Given the description of an element on the screen output the (x, y) to click on. 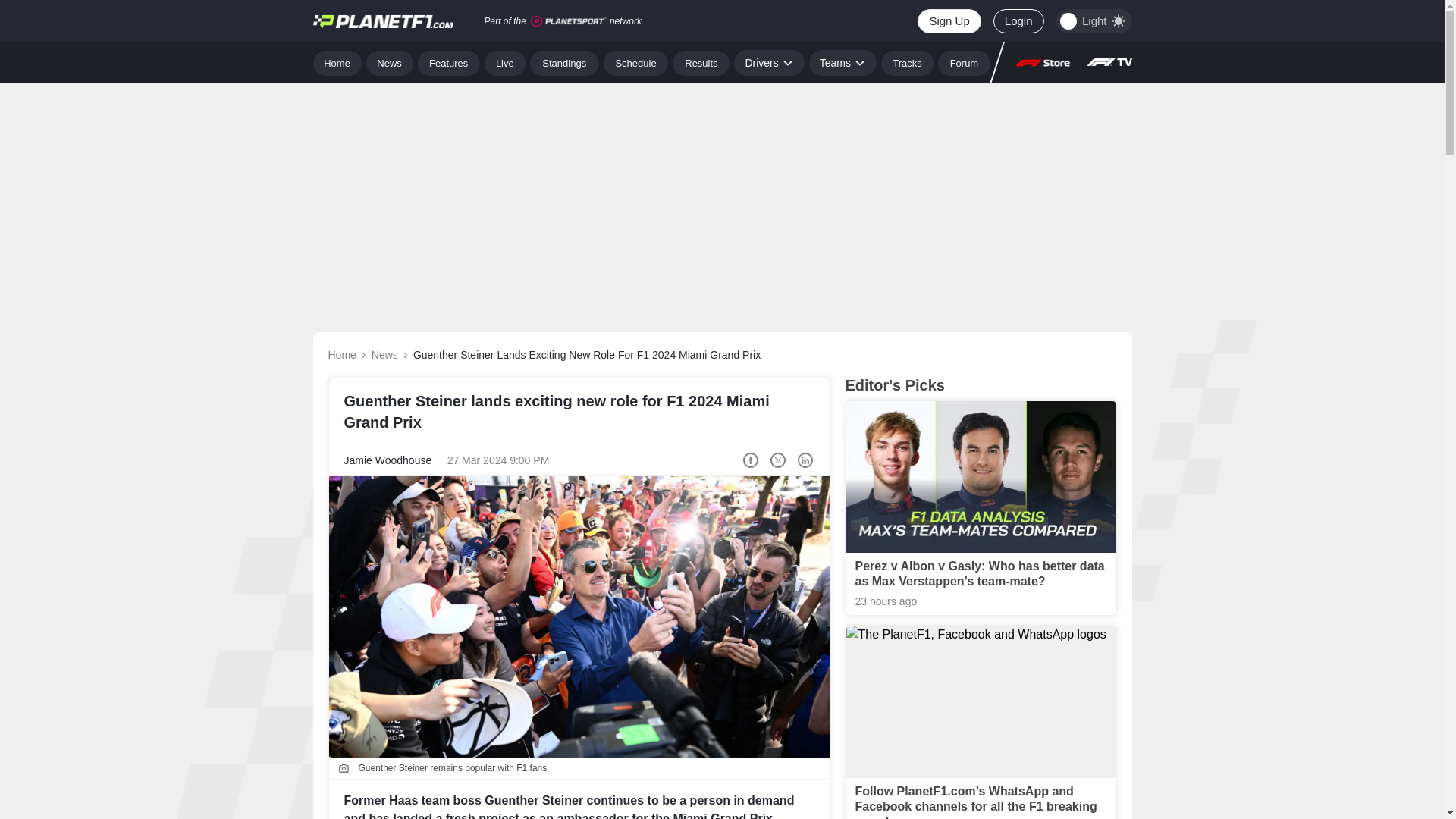
Standings (563, 62)
Drivers (768, 62)
Login (1017, 21)
Features (448, 62)
Sign Up (948, 21)
Results (700, 62)
Teams (842, 62)
Home (337, 62)
News (389, 62)
Schedule (636, 62)
